Given the description of an element on the screen output the (x, y) to click on. 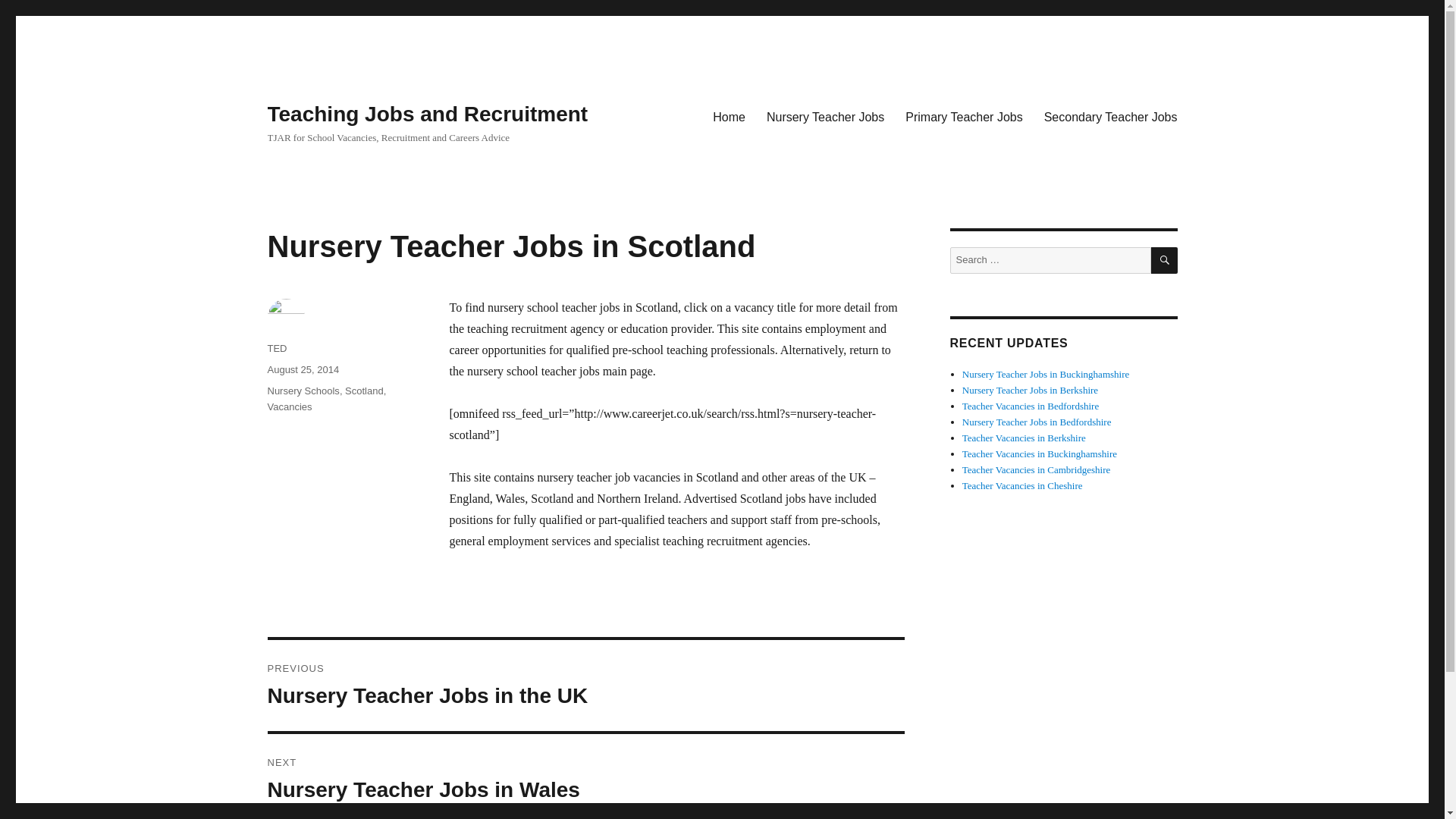
Nursery Teacher Jobs in Berkshire (1029, 389)
Teacher Vacancies in Buckinghamshire (1039, 453)
Primary Teacher Jobs (963, 116)
TED (276, 348)
Teacher Vacancies in Berkshire (1024, 437)
Nursery Teacher Jobs in Bedfordshire (1037, 421)
August 25, 2014 (302, 369)
Home (585, 776)
Teacher Vacancies in Cambridgeshire (728, 116)
